Given the description of an element on the screen output the (x, y) to click on. 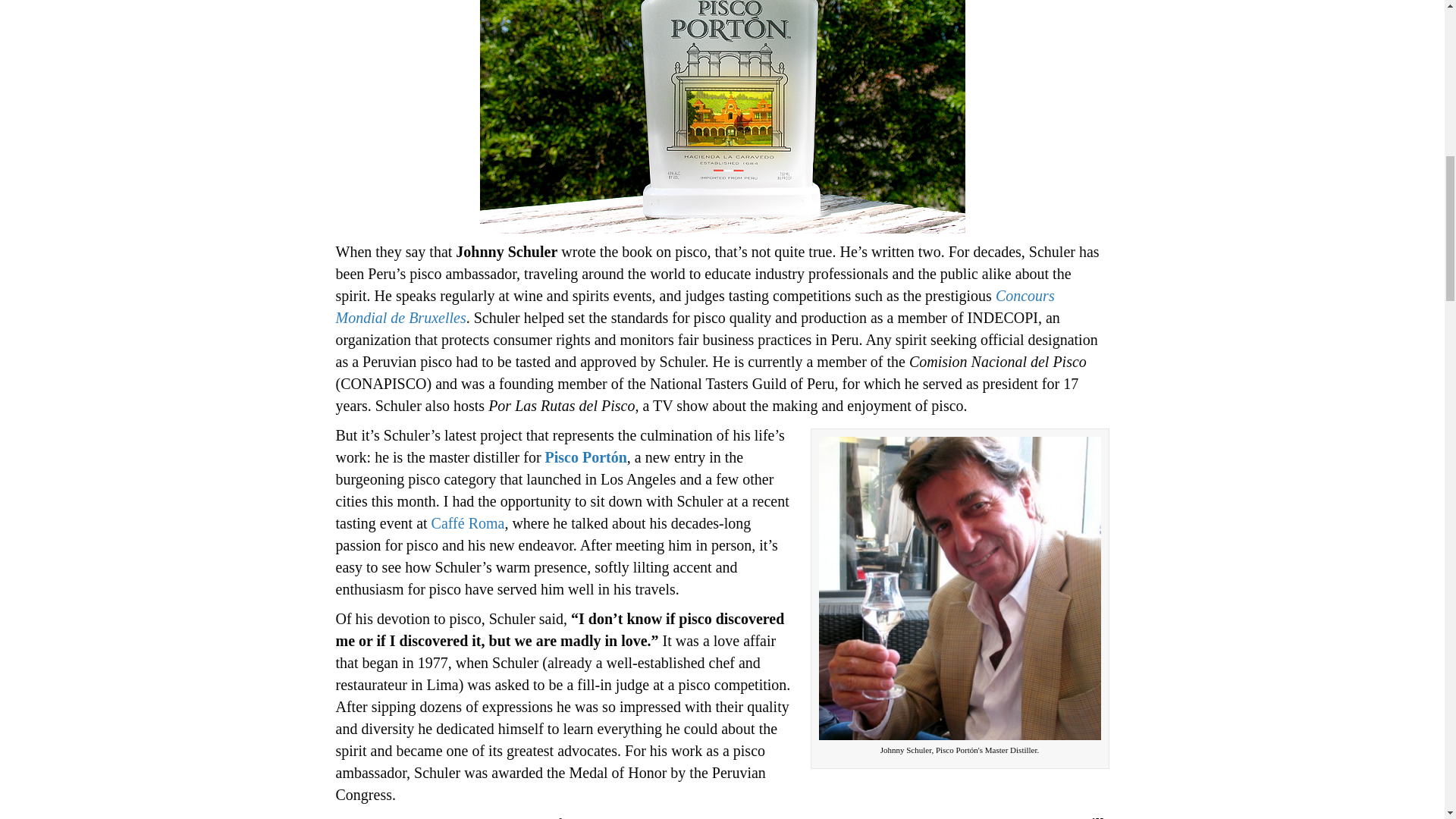
Concours Mondial de Bruxelles (694, 306)
johnny schuler (959, 588)
Concours Mondial de Bruxelles (694, 306)
